Given the description of an element on the screen output the (x, y) to click on. 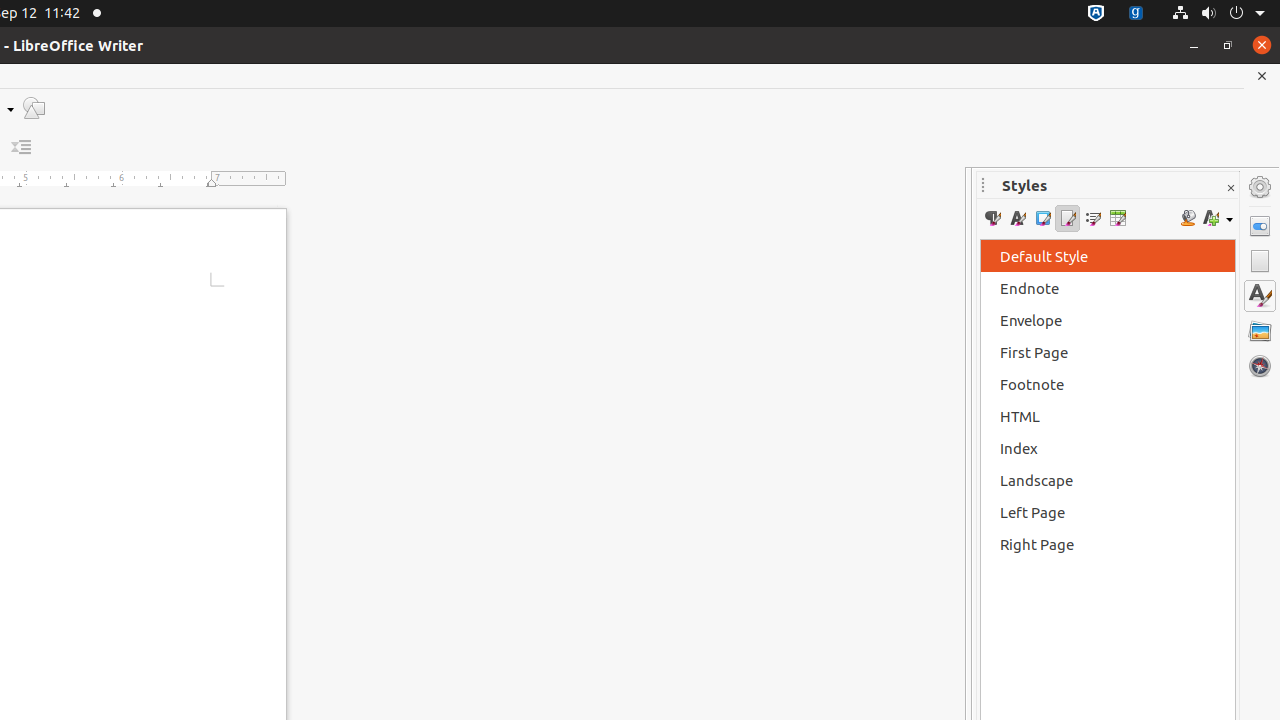
:1.72/StatusNotifierItem Element type: menu (1096, 13)
Properties Element type: radio-button (1260, 226)
Styles actions Element type: push-button (1218, 218)
Table Styles Element type: push-button (1117, 218)
Fill Format Mode Element type: push-button (1187, 218)
